Given the description of an element on the screen output the (x, y) to click on. 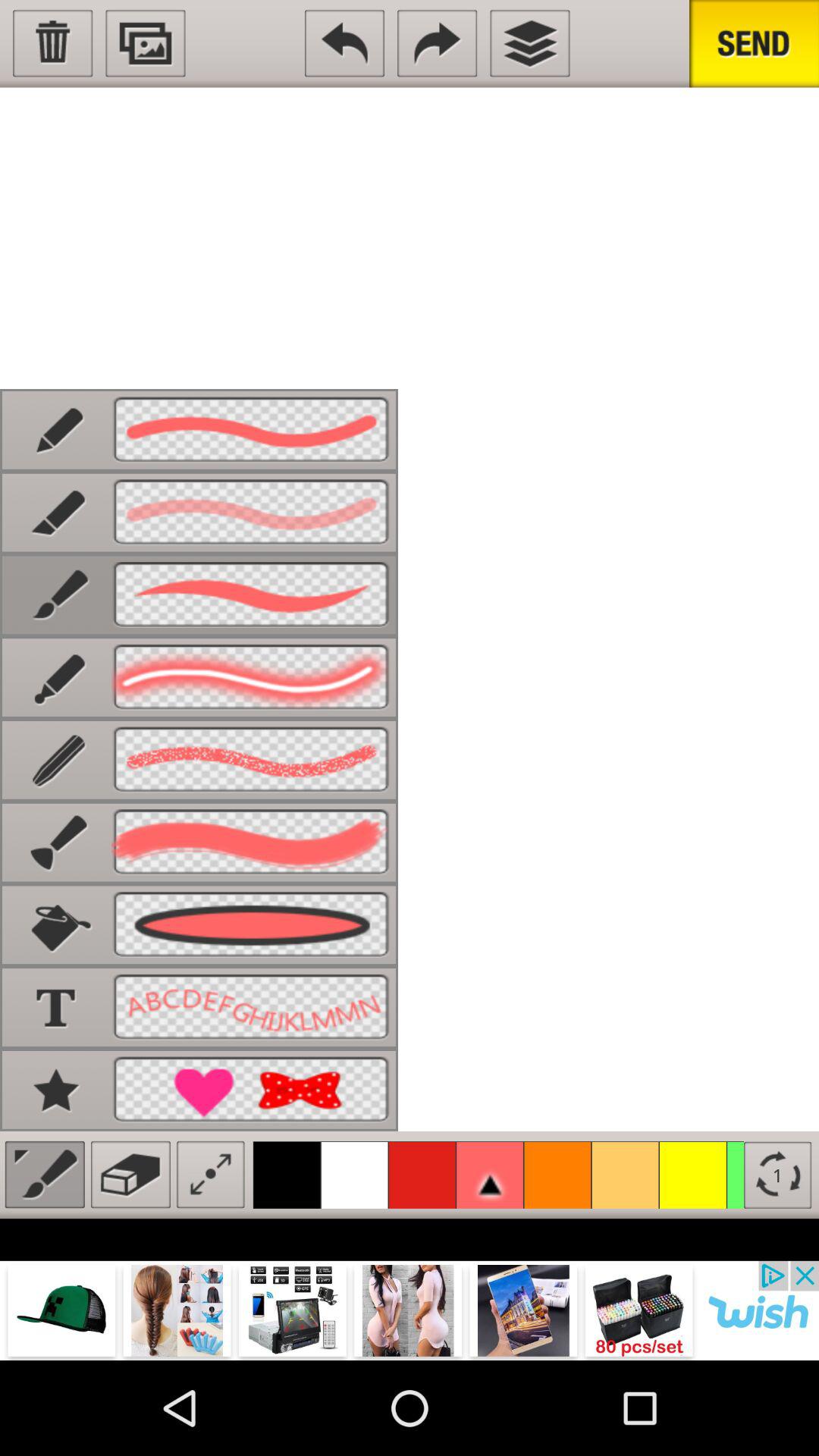
send the paint (754, 43)
